Given the description of an element on the screen output the (x, y) to click on. 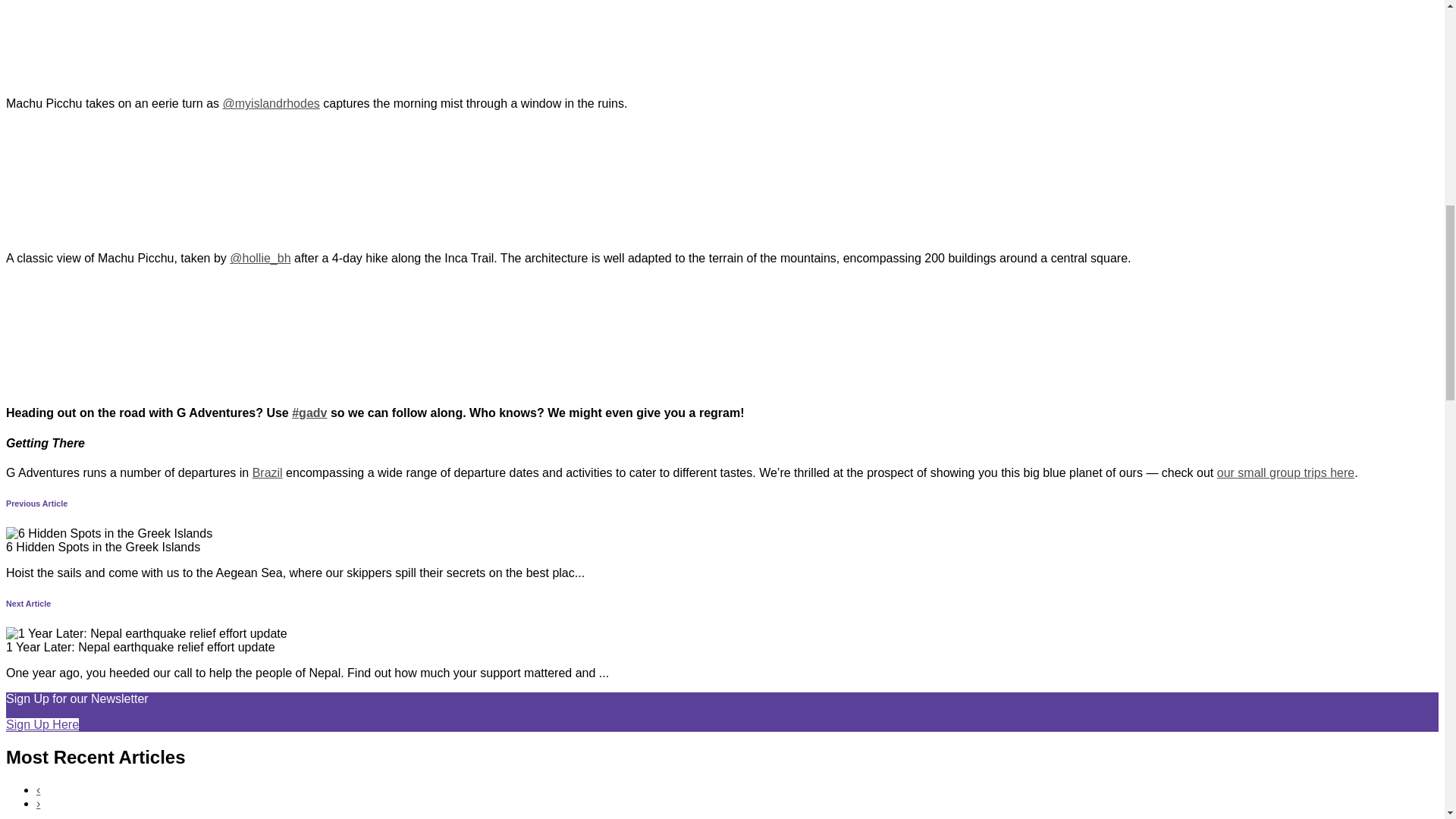
Sign Up Here (41, 724)
our small group trips here (1285, 472)
Brazil (266, 472)
